Given the description of an element on the screen output the (x, y) to click on. 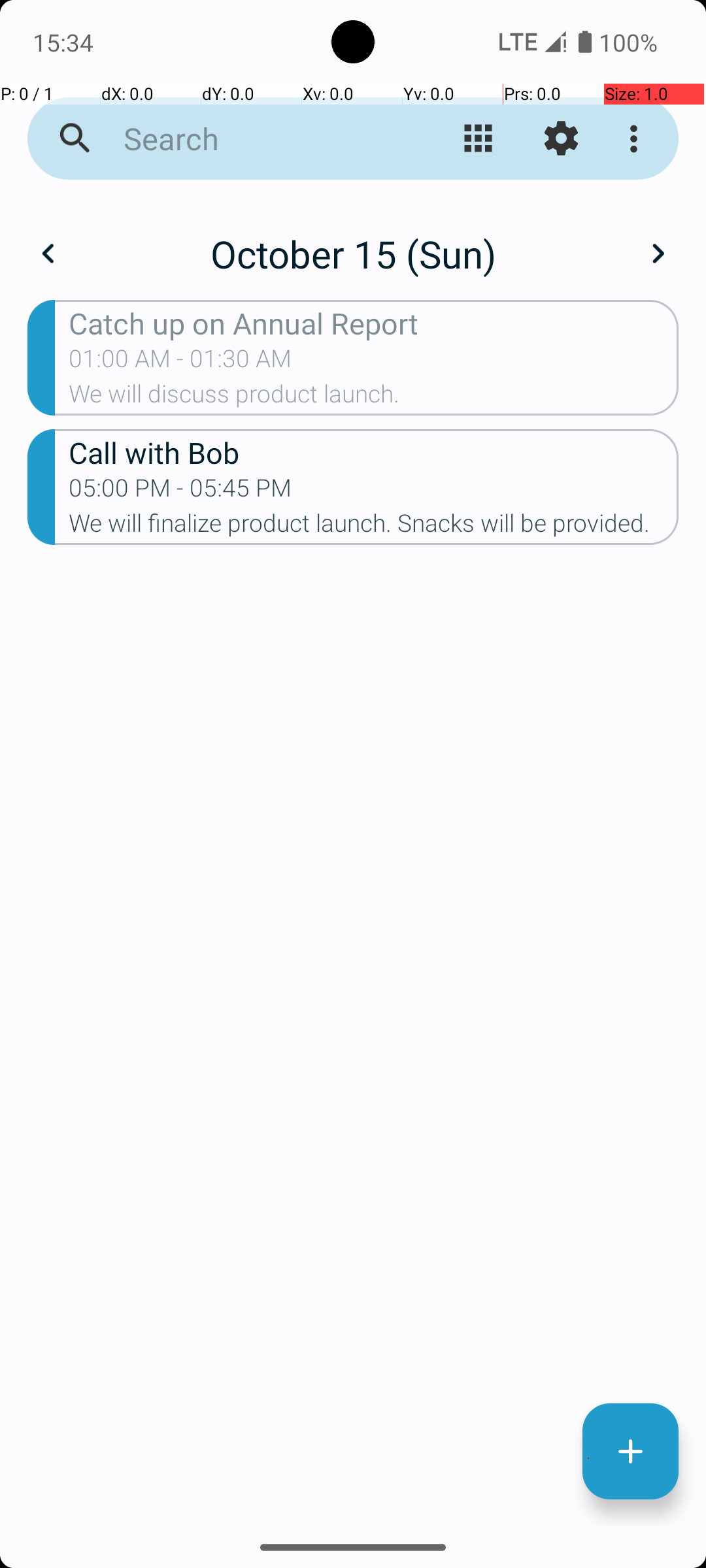
01:00 AM - 01:30 AM Element type: android.widget.TextView (179, 362)
We will discuss product launch. Element type: android.widget.TextView (373, 397)
Call with Bob Element type: android.widget.TextView (373, 451)
05:00 PM - 05:45 PM Element type: android.widget.TextView (179, 491)
We will finalize product launch. Snacks will be provided. Element type: android.widget.TextView (373, 526)
